Given the description of an element on the screen output the (x, y) to click on. 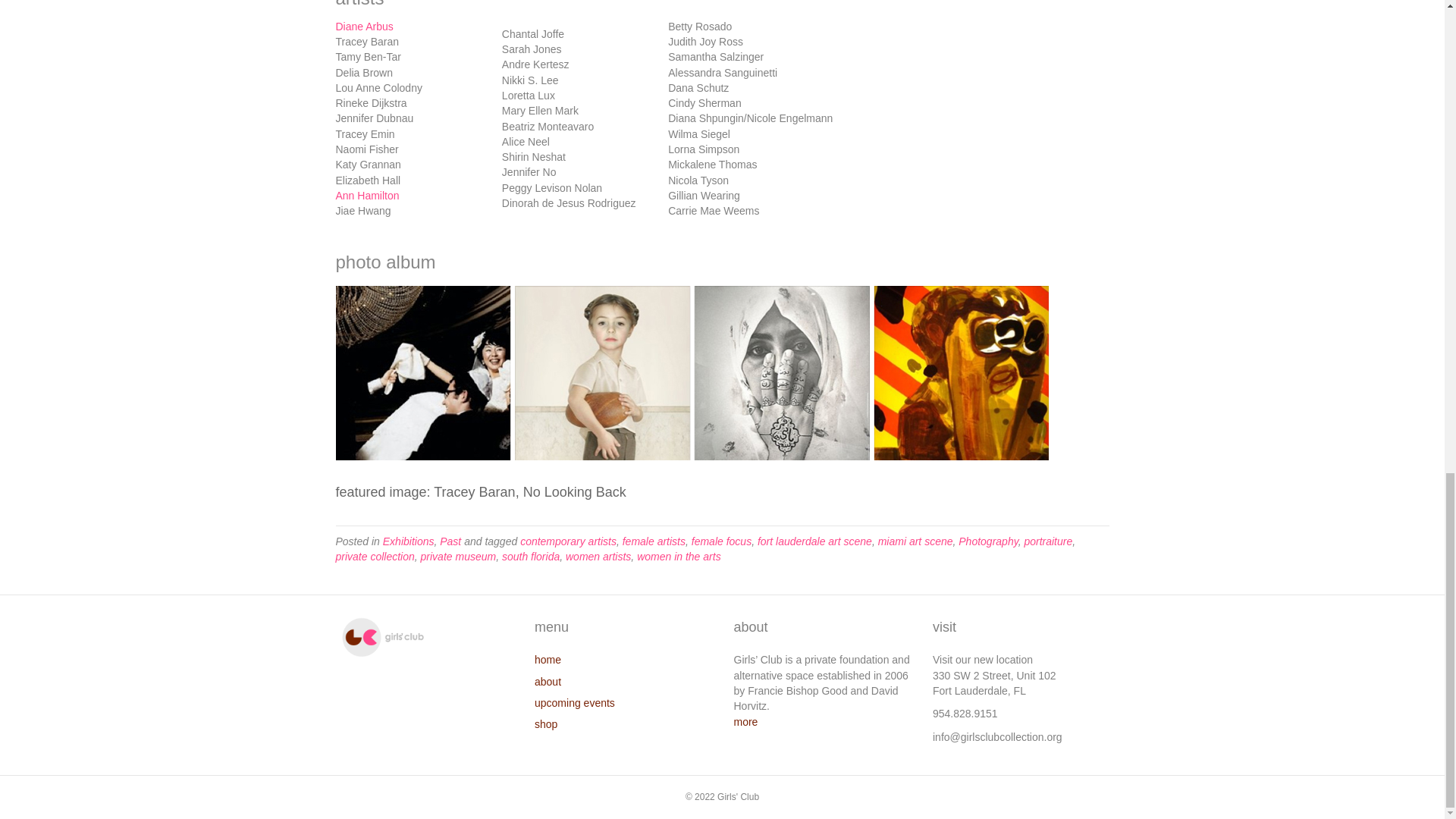
Ann Hamilton (366, 195)
Ann Hamilton (366, 195)
Home (381, 635)
Diane Arbus (363, 26)
Diane Arbus (363, 26)
